Given the description of an element on the screen output the (x, y) to click on. 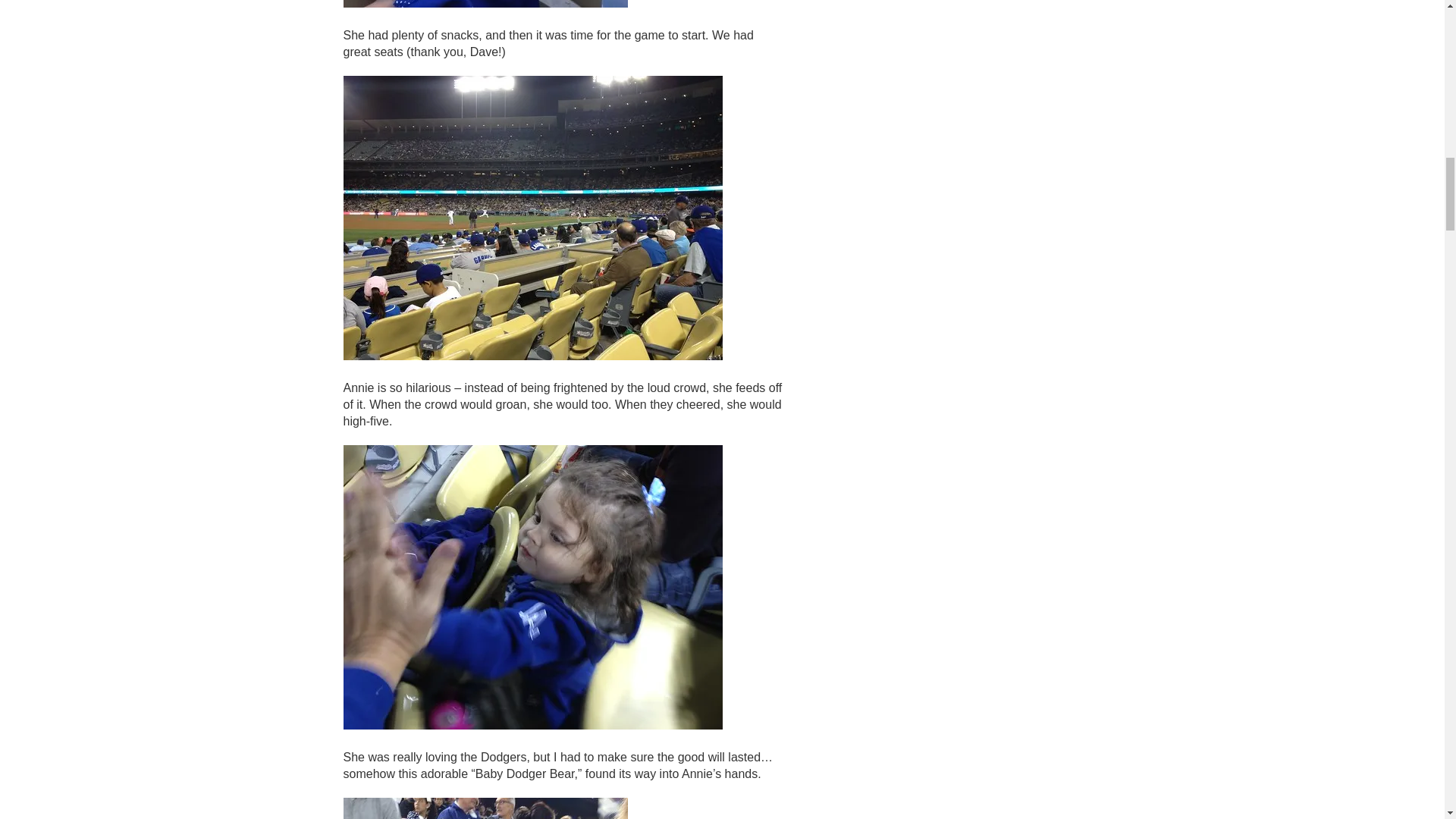
focused on BP by The Spohrs Are Multiplying..., on Flickr (484, 4)
our seats by The Spohrs Are Multiplying..., on Flickr (532, 355)
high five! by The Spohrs Are Multiplying..., on Flickr (532, 725)
